Given the description of an element on the screen output the (x, y) to click on. 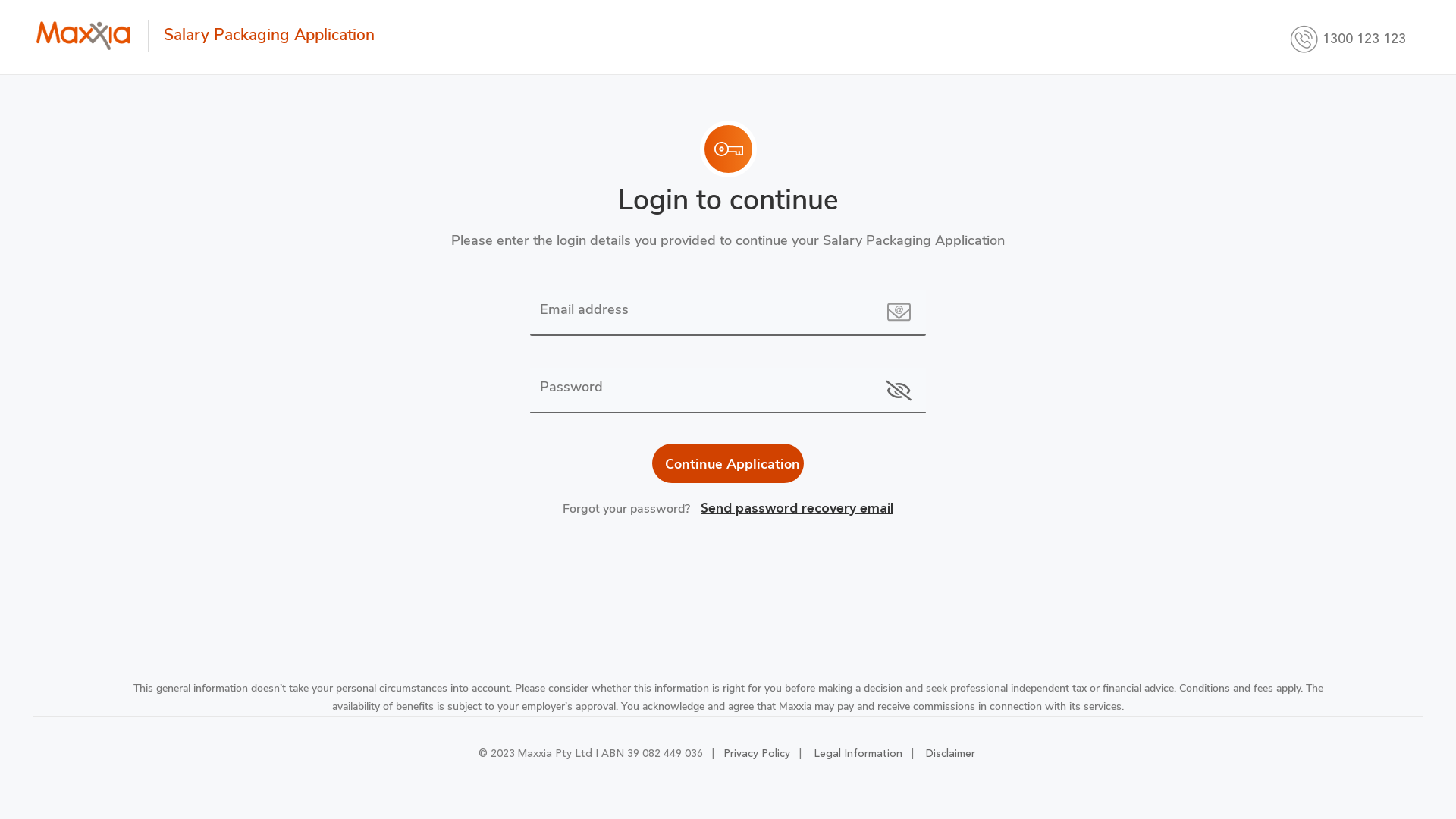
Send password recovery email Element type: text (791, 508)
Legal Information Element type: text (856, 753)
Continue Application Element type: text (727, 463)
Disclaimer Element type: text (949, 753)
 Privacy Policy Element type: text (755, 753)
